Given the description of an element on the screen output the (x, y) to click on. 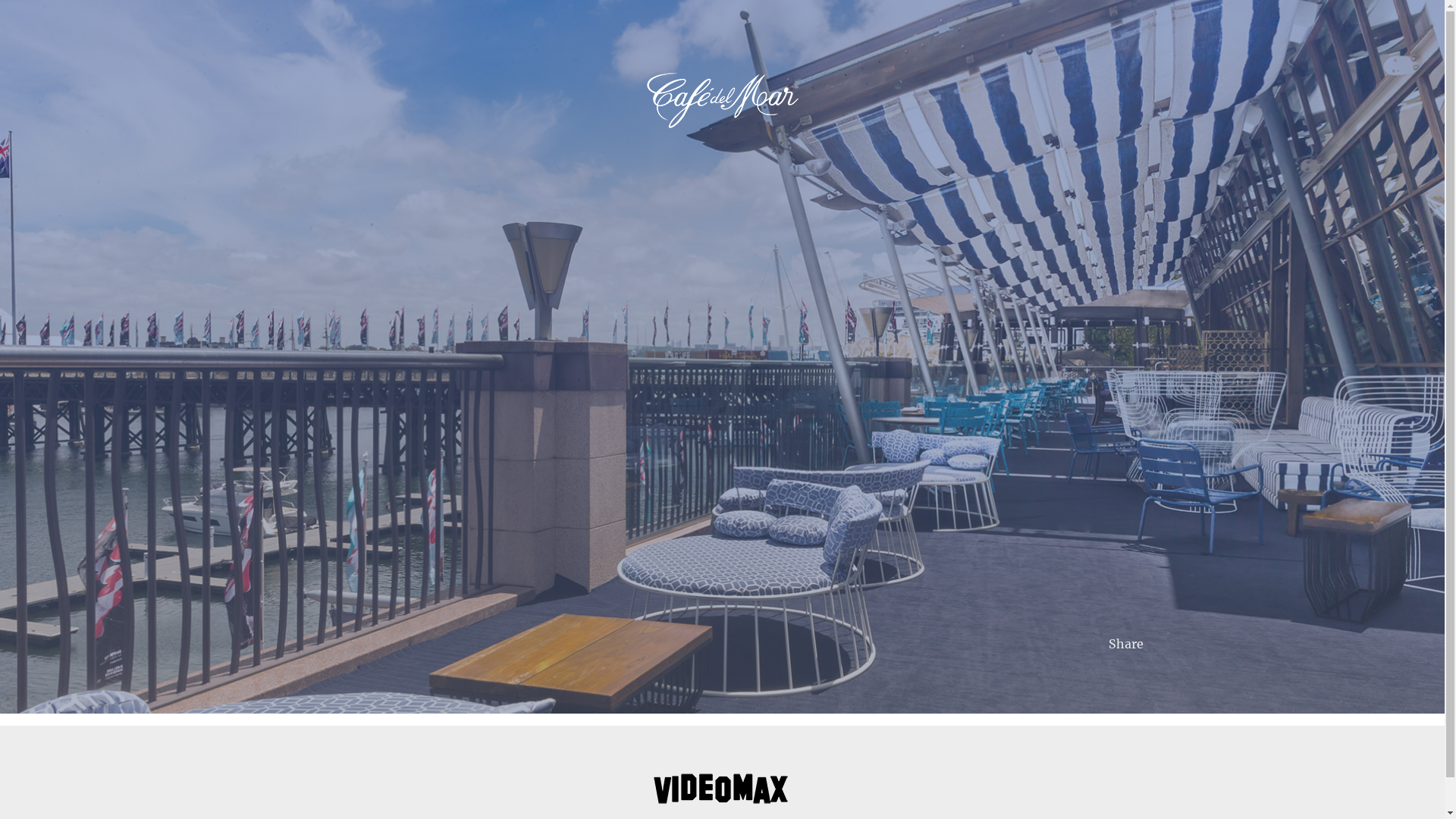
Share Element type: text (1125, 643)
